Given the description of an element on the screen output the (x, y) to click on. 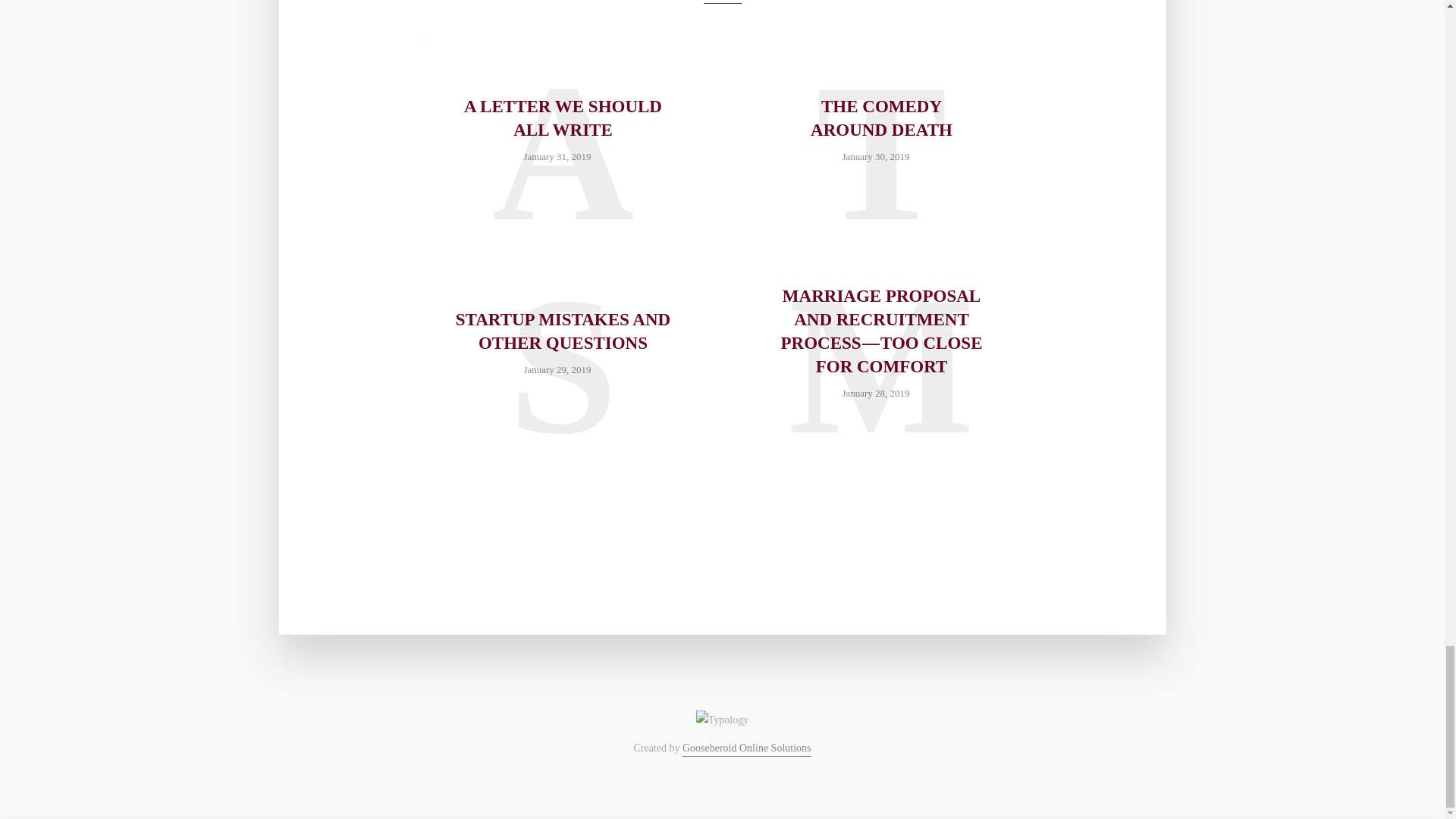
A LETTER WE SHOULD ALL WRITE (562, 118)
STARTUP MISTAKES AND OTHER QUESTIONS (562, 330)
Gooseberoid Online Solutions (746, 749)
THE COMEDY AROUND DEATH (880, 118)
